Given the description of an element on the screen output the (x, y) to click on. 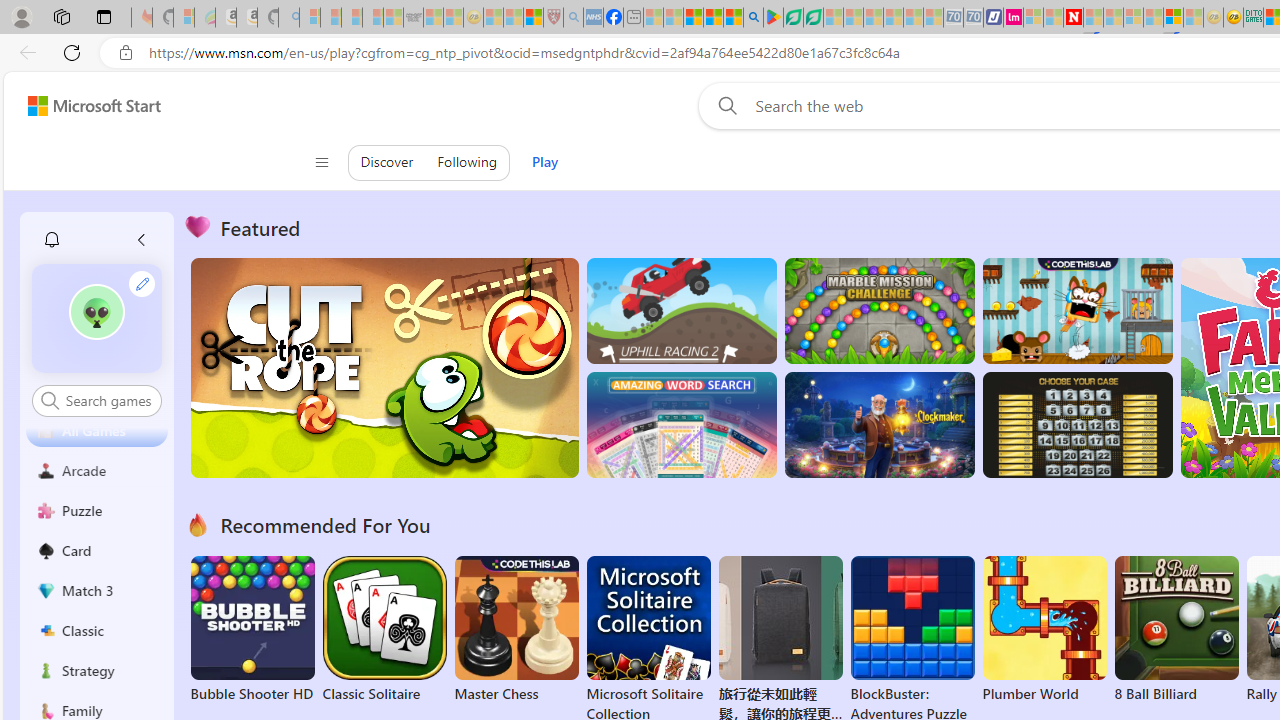
Squicky (1076, 310)
""'s avatar (97, 318)
Pets - MSN (713, 17)
